Given the description of an element on the screen output the (x, y) to click on. 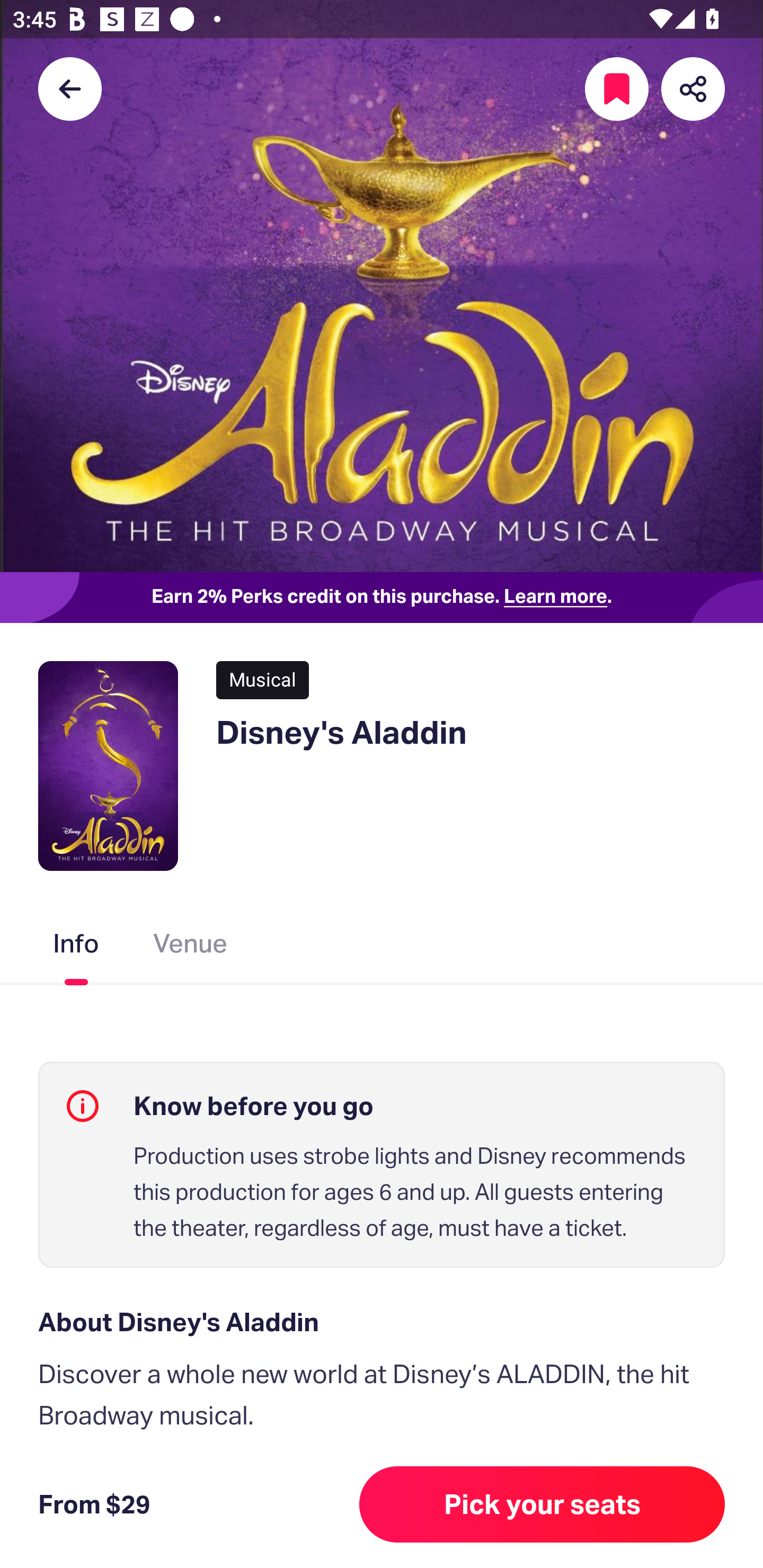
Earn 2% Perks credit on this purchase. Learn more. (381, 597)
Venue (190, 946)
About Disney's Aladdin (381, 1322)
Pick your seats (541, 1504)
